Given the description of an element on the screen output the (x, y) to click on. 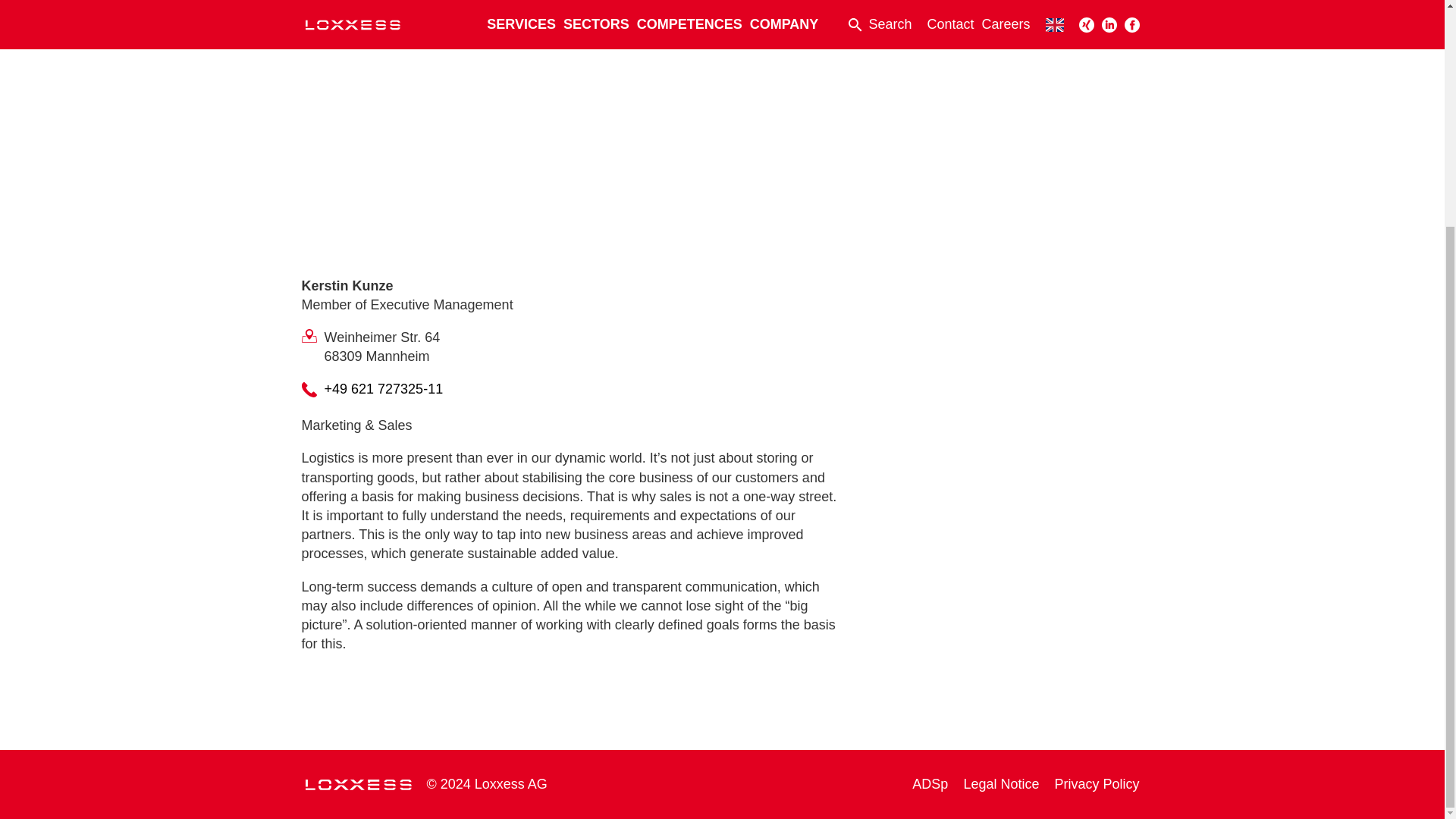
Open Cookie Preferences (32, 494)
